Given the description of an element on the screen output the (x, y) to click on. 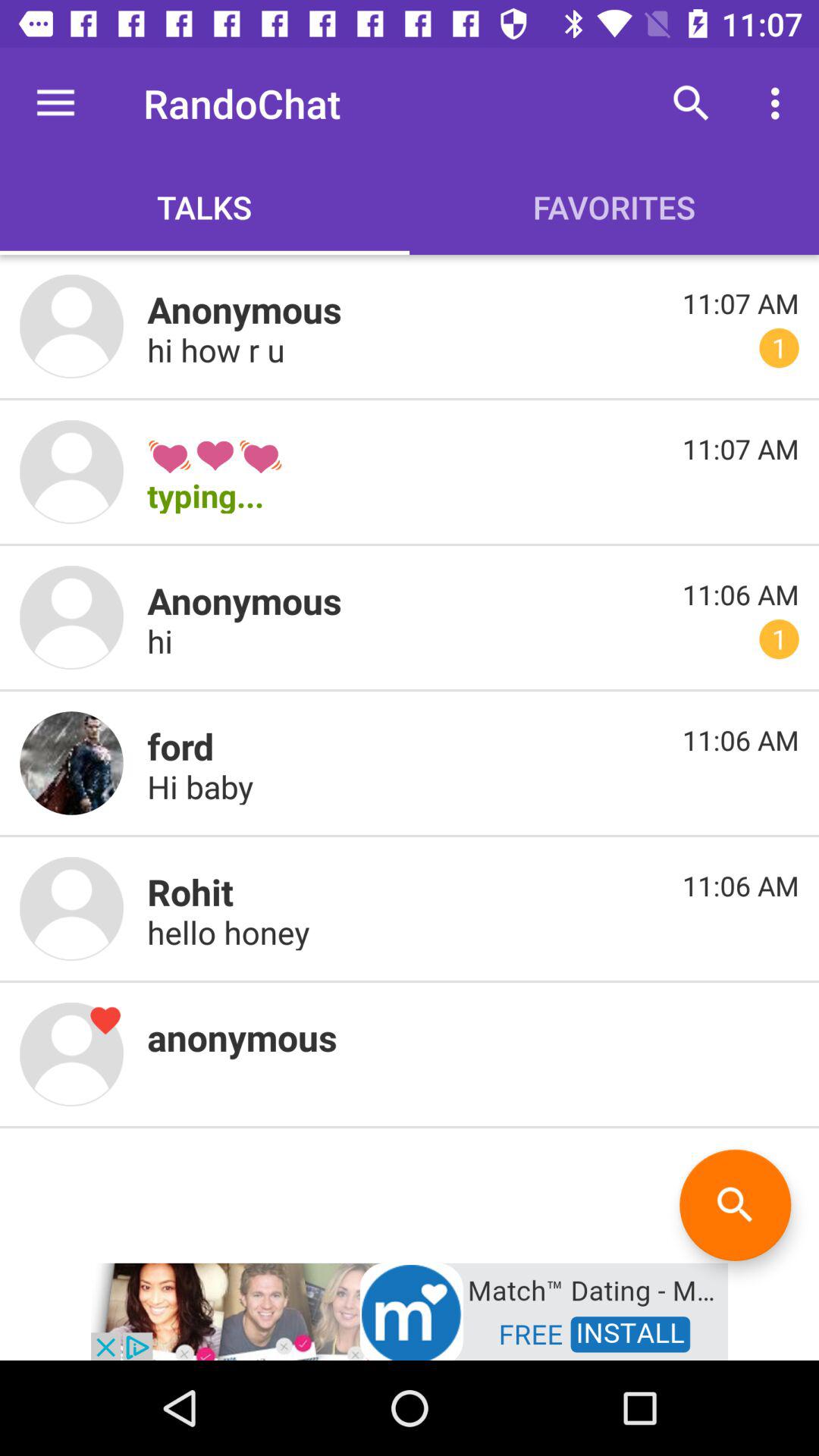
open advertisement (409, 1310)
